Given the description of an element on the screen output the (x, y) to click on. 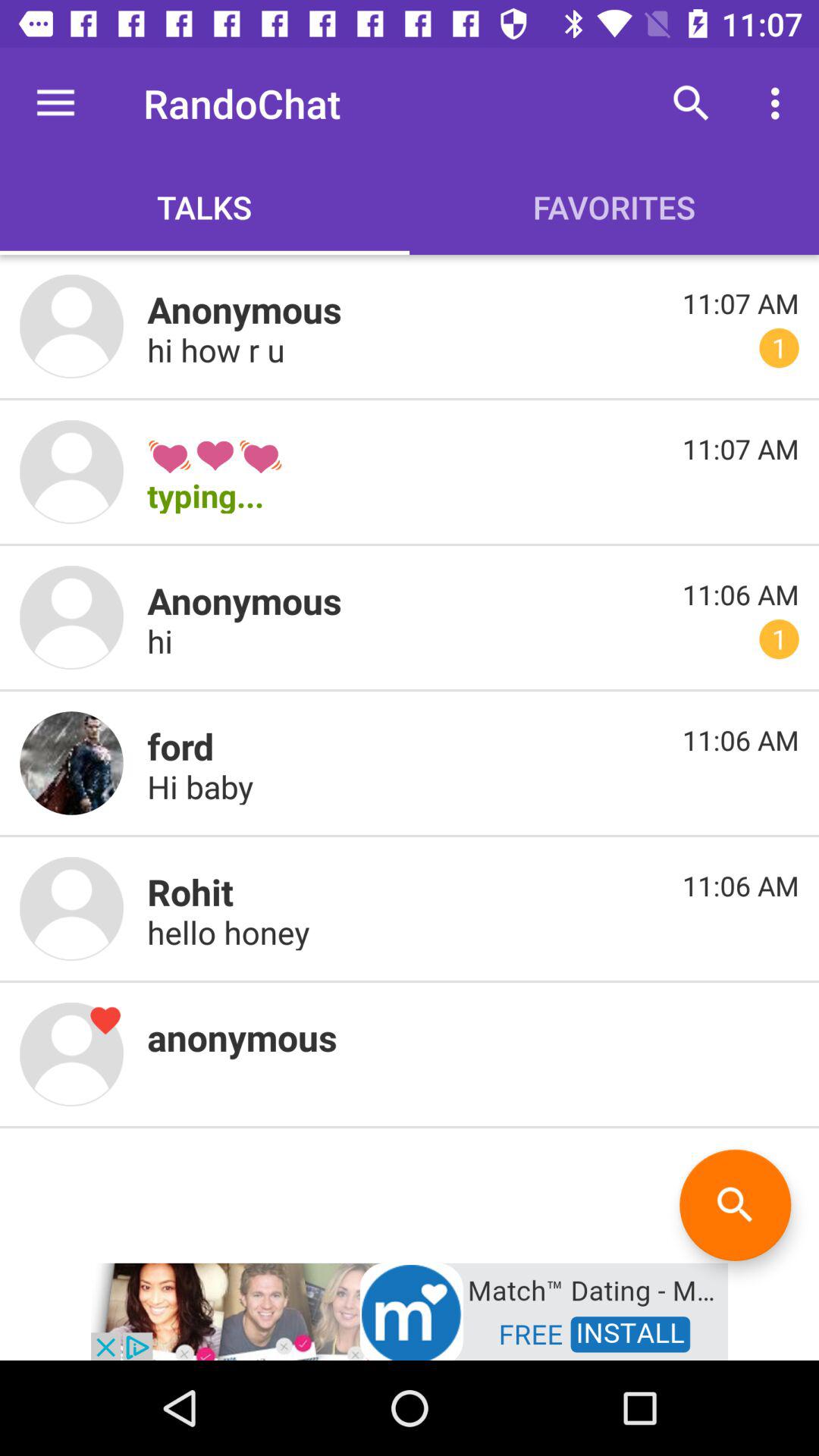
open advertisement (409, 1310)
